Given the description of an element on the screen output the (x, y) to click on. 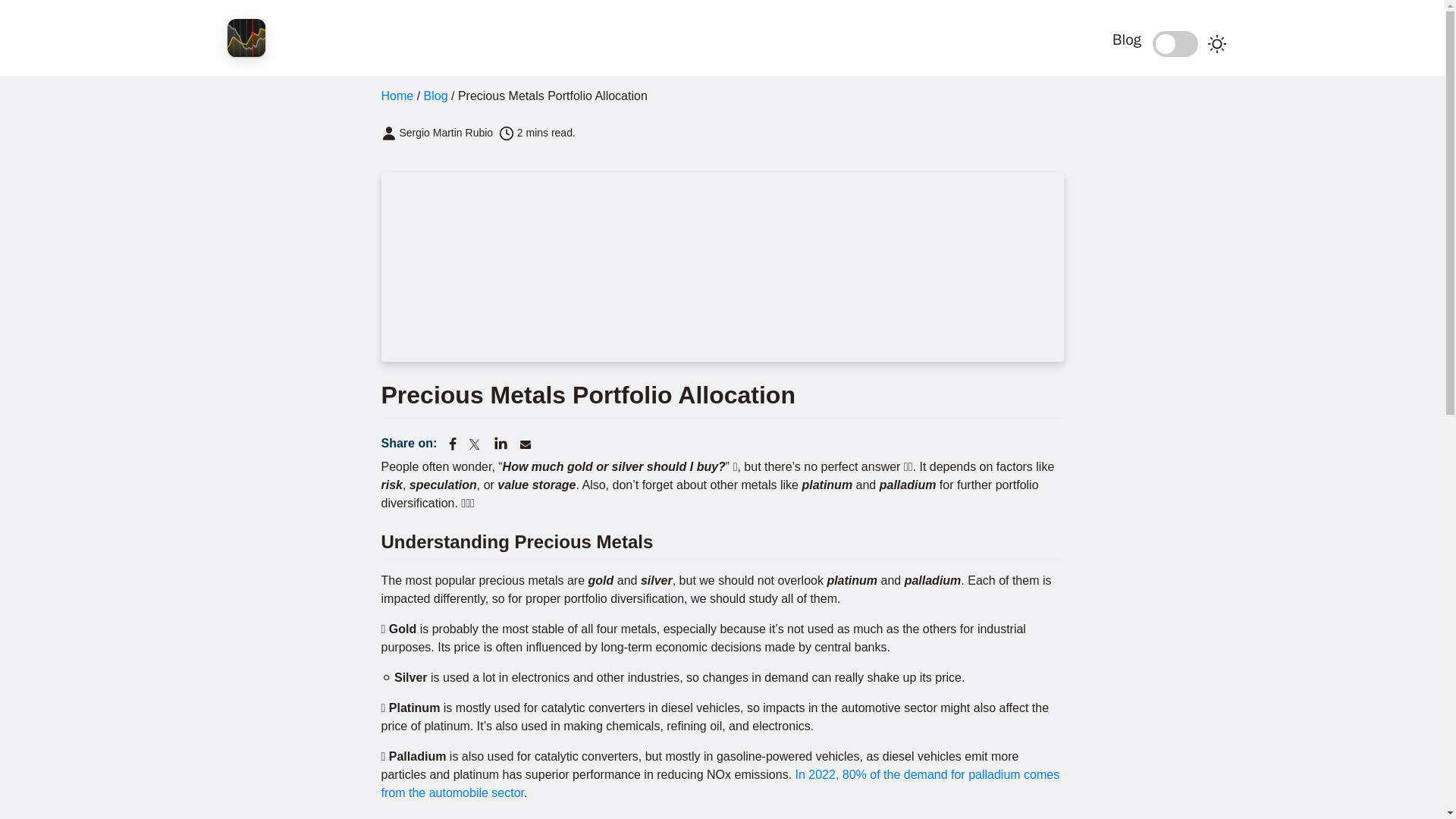
Share this through Email (525, 443)
Blog (769, 43)
Home (396, 95)
Share this on Facebook (452, 443)
Blog (435, 95)
Share this on TwitterX (476, 443)
Blog (1126, 39)
